Given the description of an element on the screen output the (x, y) to click on. 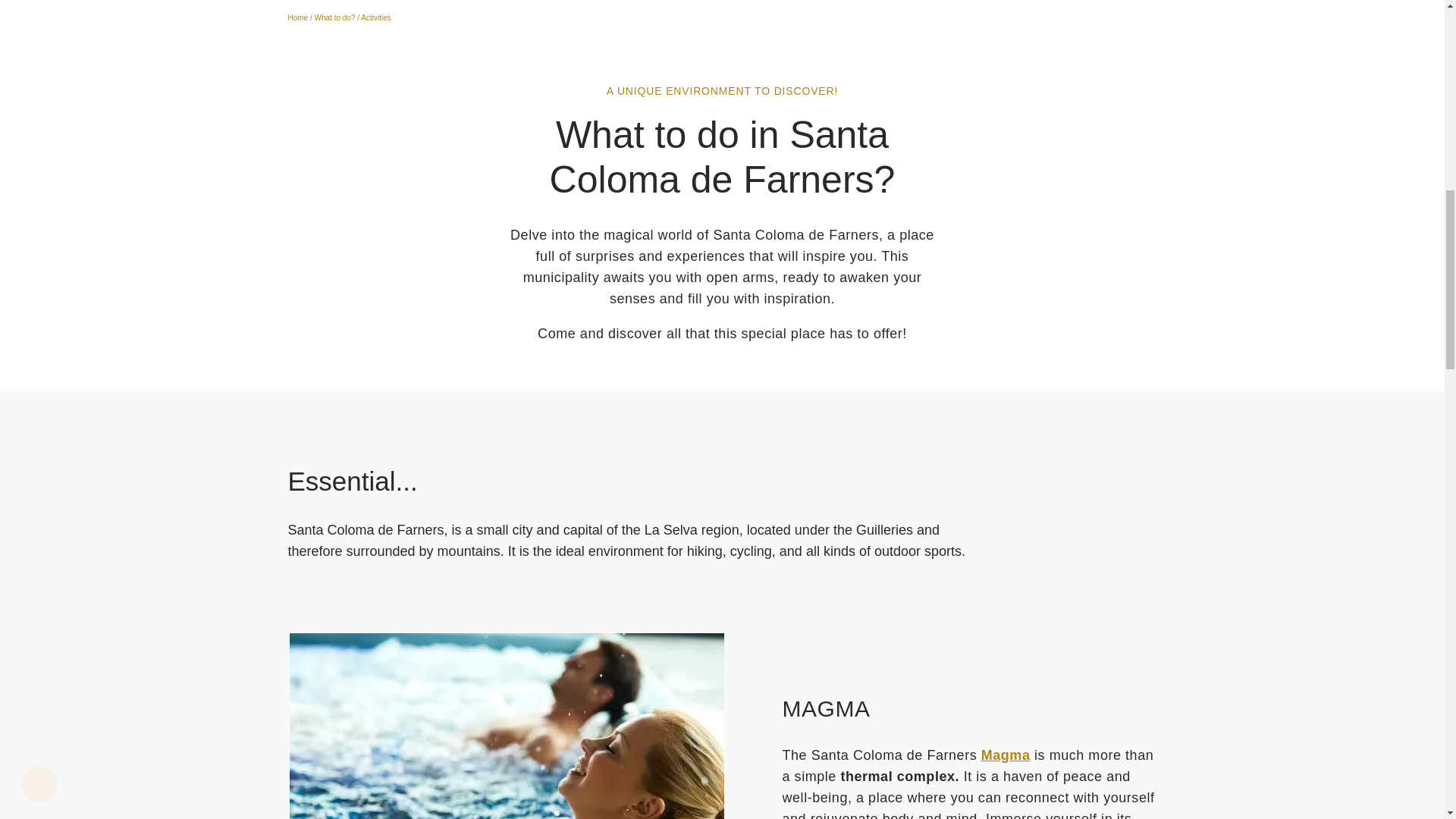
What to do? (334, 17)
Magma (1005, 754)
Home (298, 17)
